Given the description of an element on the screen output the (x, y) to click on. 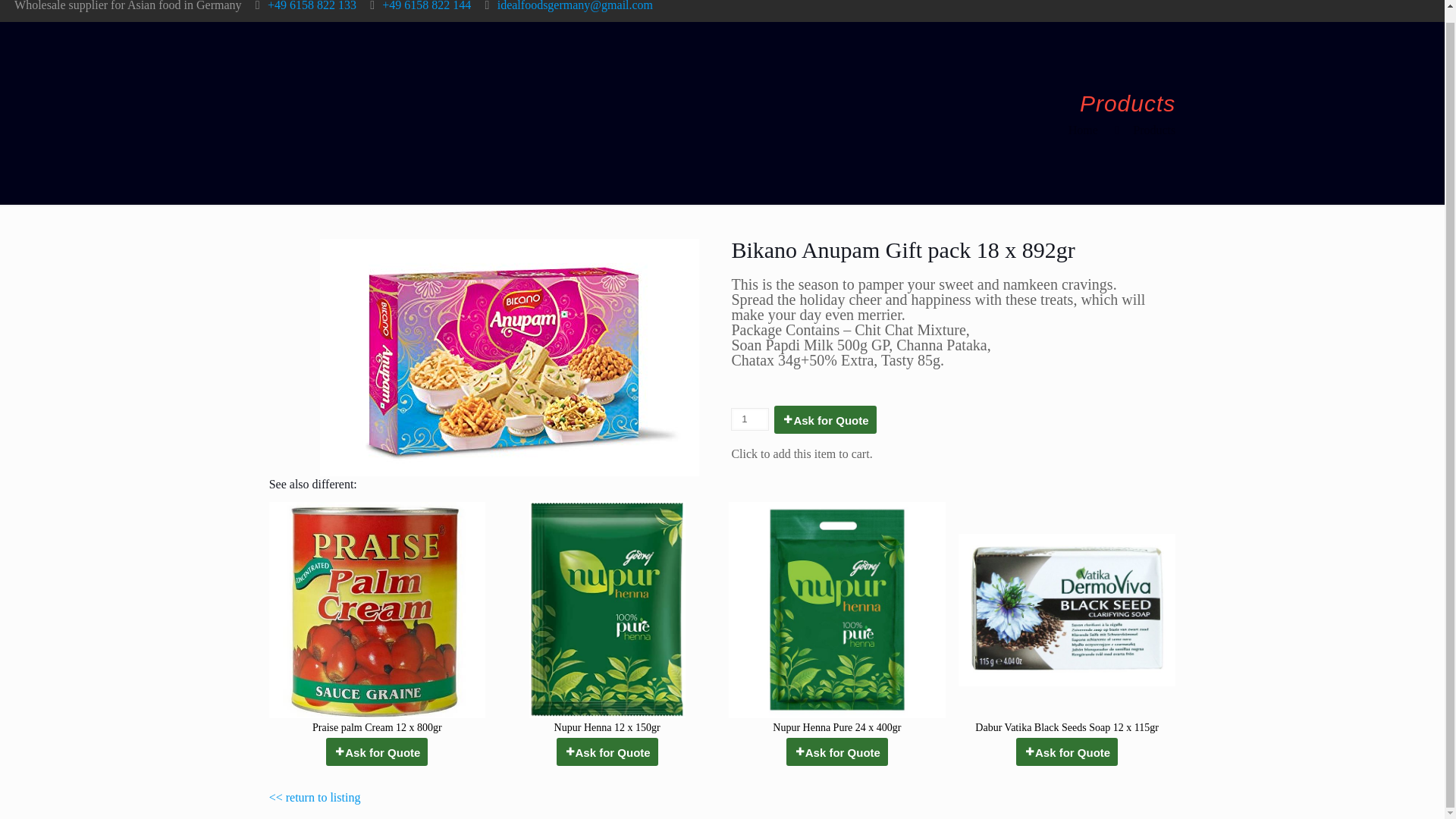
Ask for Quote (837, 751)
Home (1082, 129)
Dabur Vatika Black Seeds Soap 12 x 115gr (1066, 619)
Ask for Quote (377, 751)
Ask for Quote (825, 419)
Nupur Henna 12 x 150gr (606, 619)
Praise palm Cream 12 x 800gr (376, 619)
Ask for Quote (607, 751)
Nupur Henna Pure 24 x 400gr (836, 619)
Ask for Quote (1067, 751)
